Given the description of an element on the screen output the (x, y) to click on. 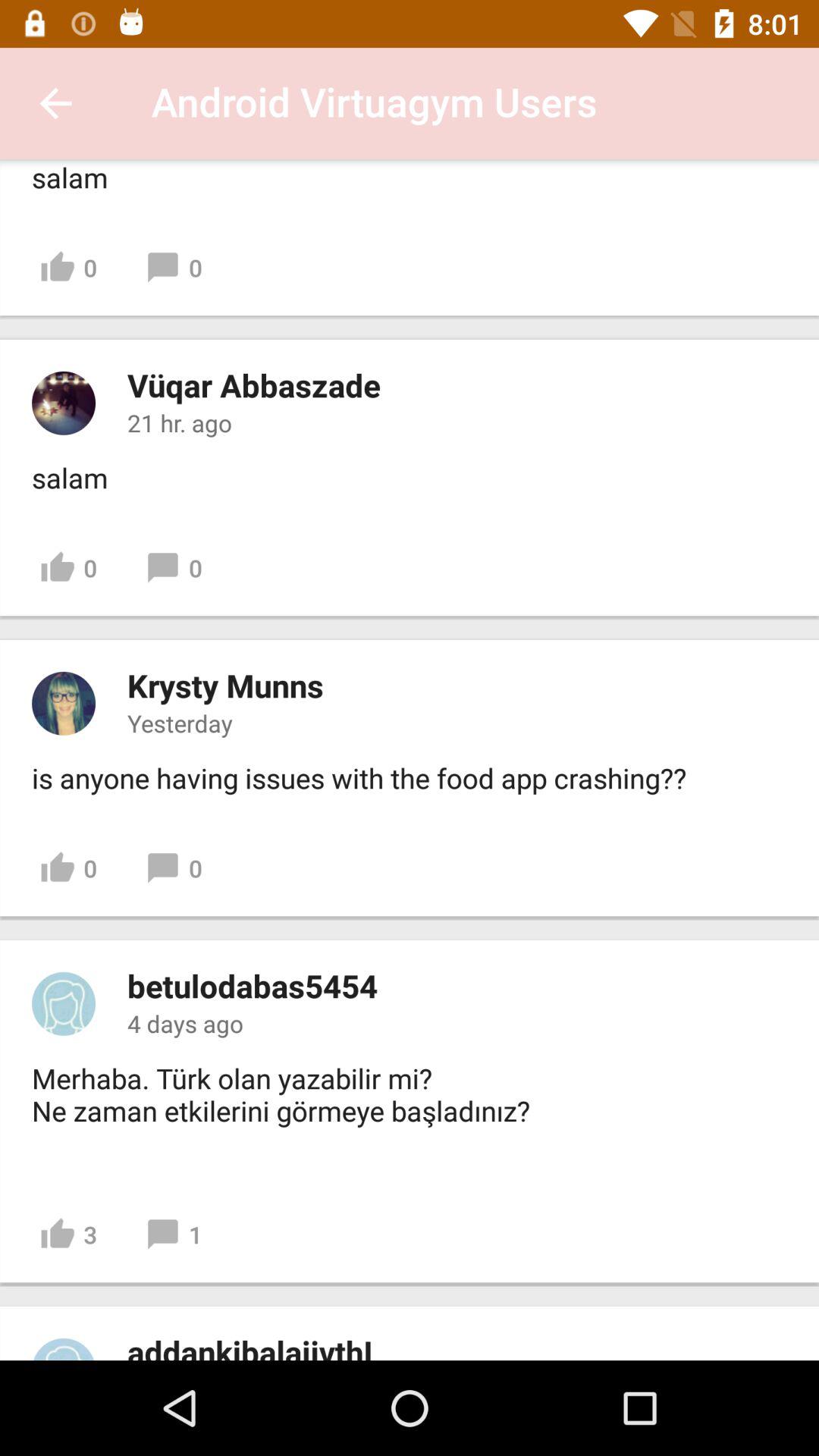
swipe to the betulodabas5454 (252, 985)
